Given the description of an element on the screen output the (x, y) to click on. 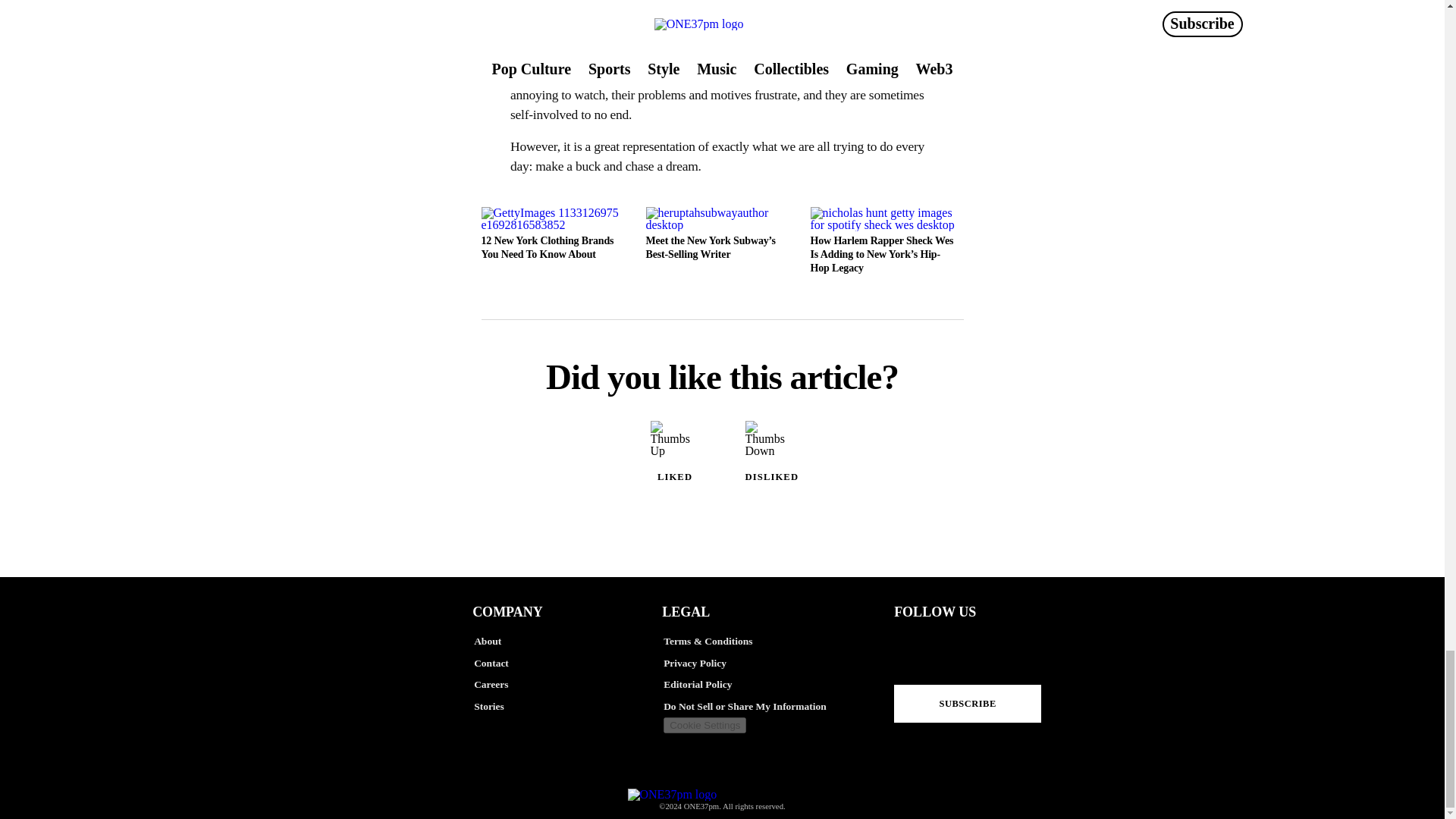
Do Not Sell or Share My Information (758, 707)
12 New York Clothing Brands You Need To Know About (556, 241)
Careers (568, 685)
Cookie Settings (704, 725)
ONE37pm (721, 781)
Contact (568, 663)
About (568, 641)
Stories (568, 707)
Editorial Policy (758, 685)
Privacy Policy (758, 663)
